Given the description of an element on the screen output the (x, y) to click on. 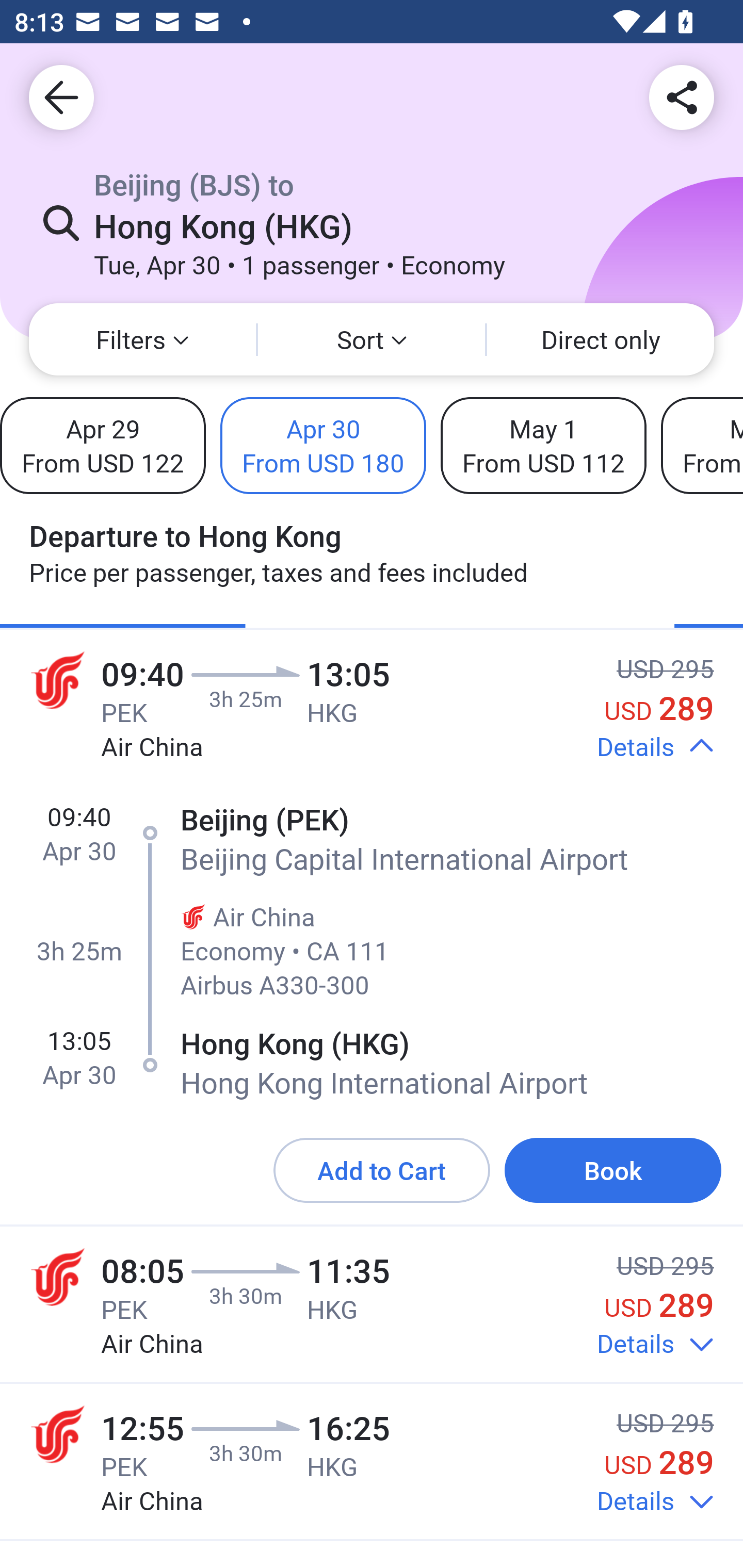
Filters (141, 339)
Sort (371, 339)
Direct only (600, 339)
Apr 29 From USD 122 (102, 444)
Apr 30 From USD 180 (323, 444)
May 1 From USD 112 (543, 444)
Add to Cart (381, 1170)
Book (612, 1170)
